Given the description of an element on the screen output the (x, y) to click on. 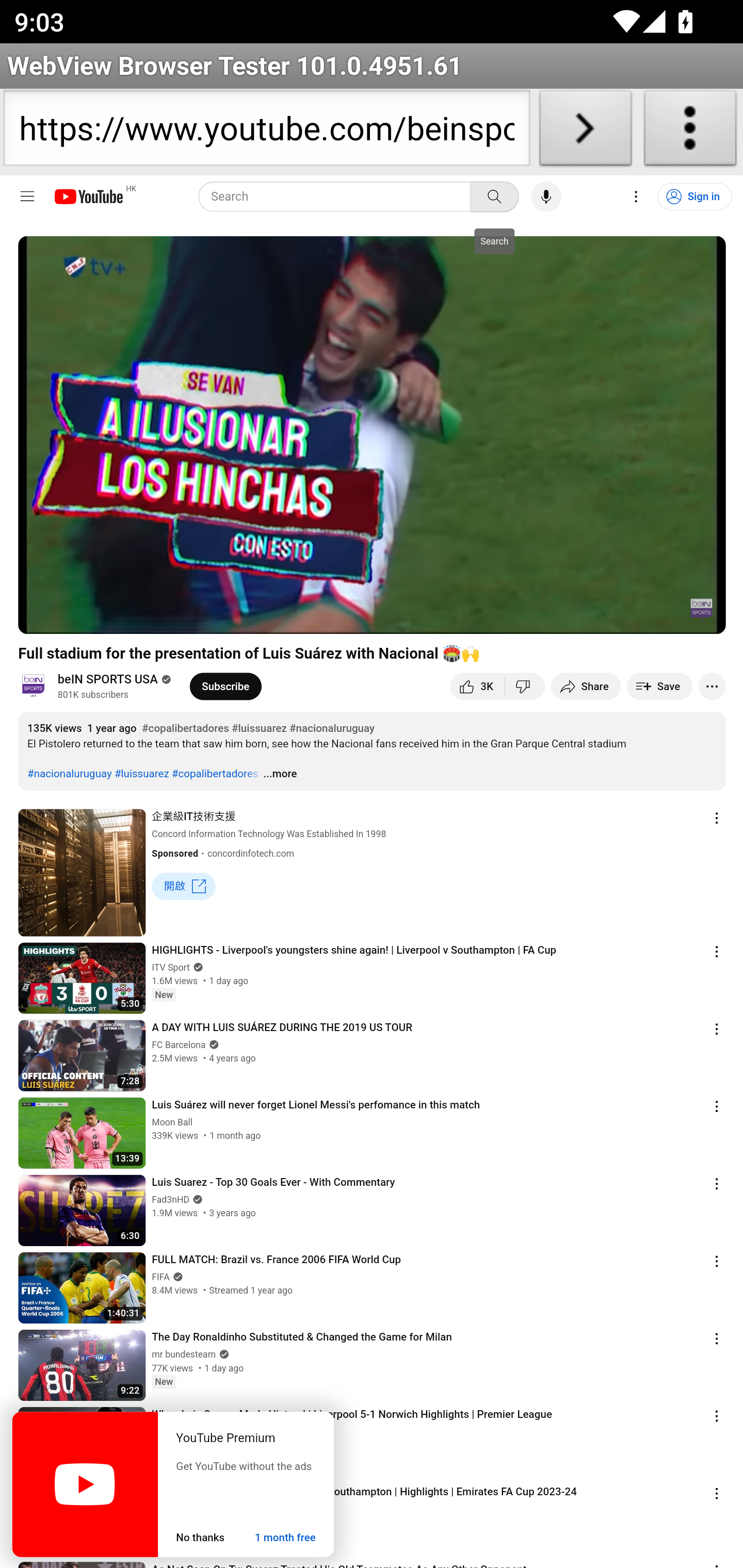
https://www.youtube.com/beinsportsusa (266, 132)
Load URL (585, 132)
About WebView (690, 132)
YouTube Home (88, 196)
Guide (27, 196)
Search (494, 196)
Search with your voice (545, 196)
Settings (635, 196)
Sign in (693, 196)
Channel watermark (701, 609)
@beinsportsusa (37, 685)
beIN SPORTS USA beIN SPORTS USA beIN SPORTS USA (107, 679)
Subscribe to beIN SPORTS USA. (224, 686)
like this video along with 3,012 other people (477, 686)
Dislike this video (524, 686)
Share (585, 686)
Save to playlist (659, 686)
More actions (712, 686)
Verified (164, 678)
#copalibertadores (184, 727)
#luissuarez (259, 727)
#nacionaluruguay (331, 727)
...more (279, 772)
#nacionaluruguay (69, 772)
#luissuarez (141, 772)
#copalibertadores (214, 772)
開啟 (183, 885)
Action menu (716, 950)
ITV Sport (170, 966)
Verified (195, 966)
Action menu (716, 1028)
FC Barcelona (178, 1045)
Verified (212, 1044)
Action menu (716, 1106)
Moon Ball (171, 1121)
Action menu (716, 1183)
Fad3nHD (170, 1198)
Verified (195, 1198)
Action menu (716, 1260)
FIFA (160, 1277)
Verified (176, 1276)
Action menu (716, 1338)
mr bundesteam (183, 1353)
Verified (222, 1353)
Action menu (716, 1415)
Action menu (716, 1492)
No thanks (200, 1538)
1 month free (285, 1538)
